Given the description of an element on the screen output the (x, y) to click on. 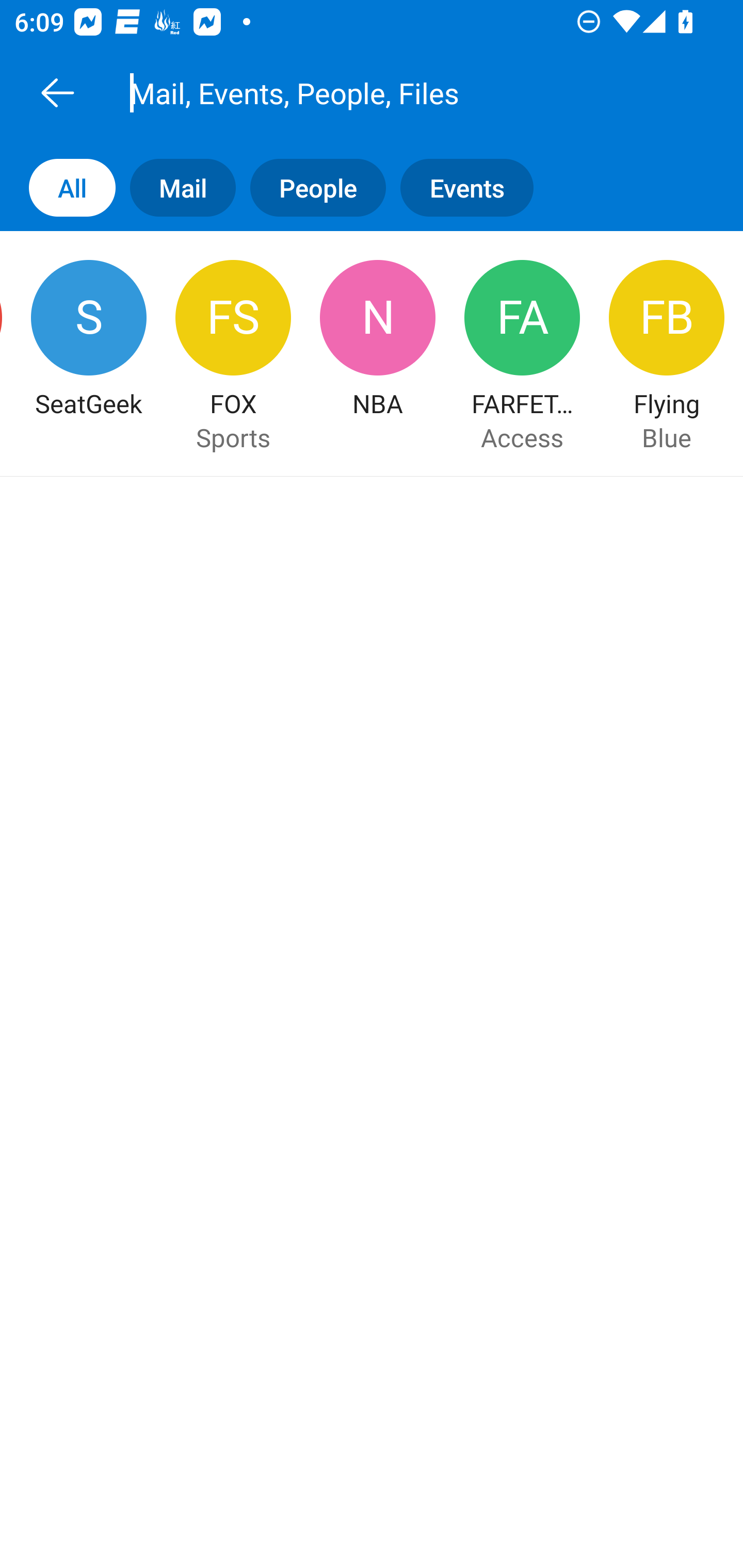
Back (57, 92)
Mail, Events, People, Files (394, 92)
Mail (175, 187)
People (310, 187)
Events (473, 187)
